Given the description of an element on the screen output the (x, y) to click on. 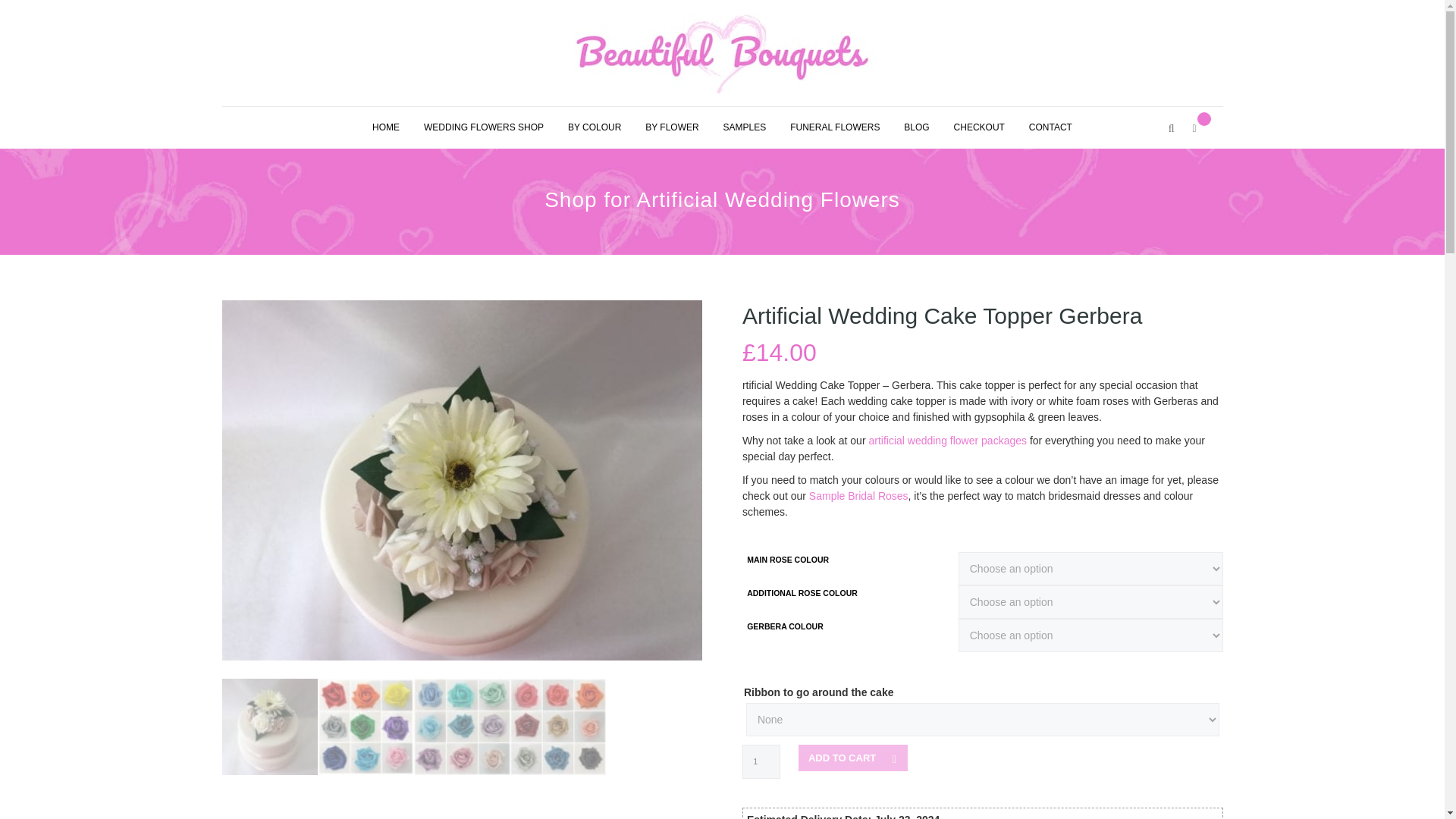
sample rose colours (462, 726)
SAMPLES (745, 127)
FUNERAL FLOWERS (833, 127)
gerbera cake topper (269, 726)
BY FLOWER (671, 127)
WEDDING FLOWERS SHOP (483, 127)
HOME (385, 127)
BY COLOUR (594, 127)
BEAUTIFUL BOUQUETS (722, 53)
sample rose colours (559, 726)
Sample Bridal Rose (365, 726)
1 (761, 761)
